Given the description of an element on the screen output the (x, y) to click on. 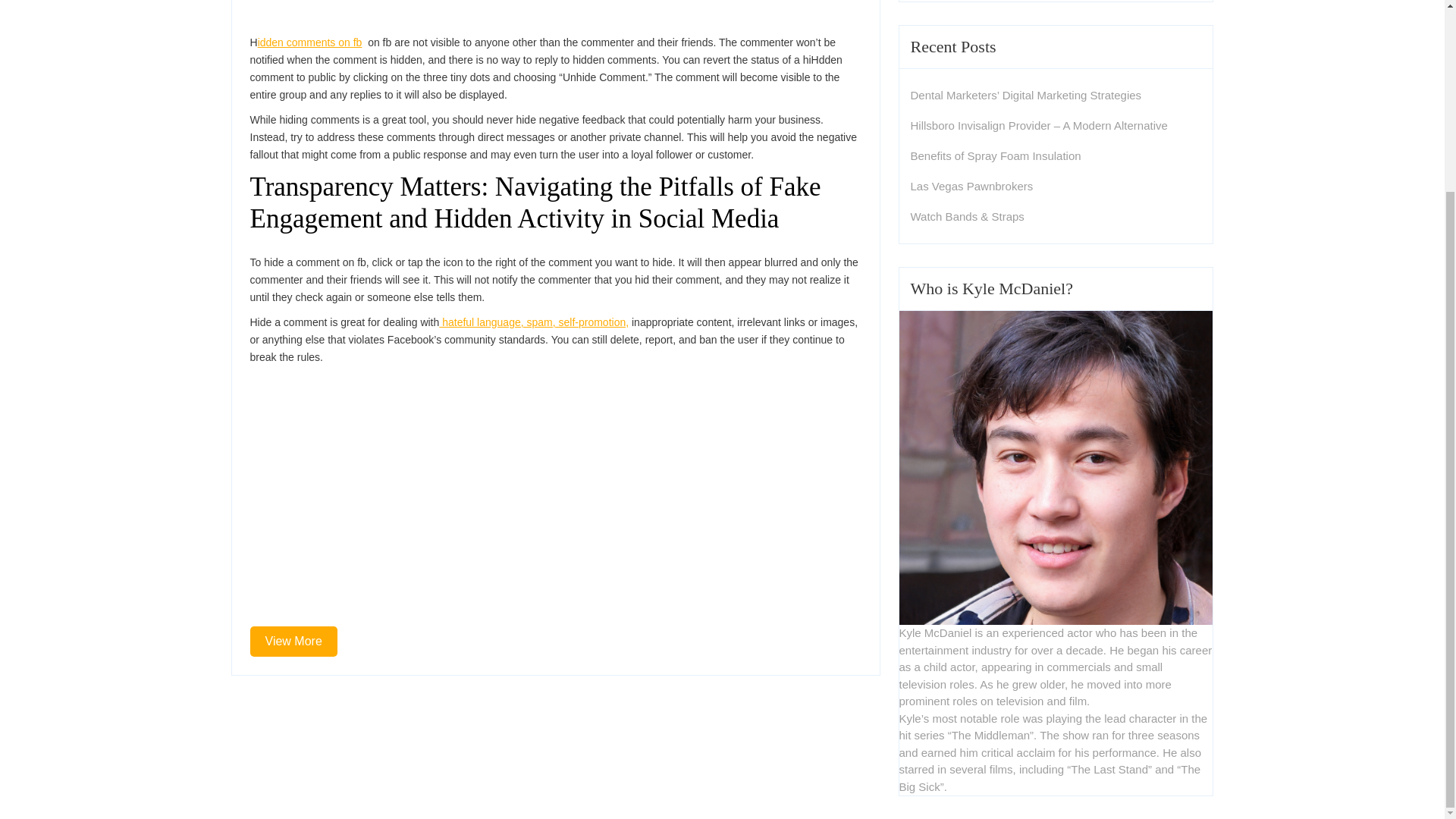
Benefits of Spray Foam Insulation (995, 155)
hateful language, spam, self-promotion, (293, 641)
Las Vegas Pawnbrokers (533, 322)
idden comments on fb (971, 185)
